Given the description of an element on the screen output the (x, y) to click on. 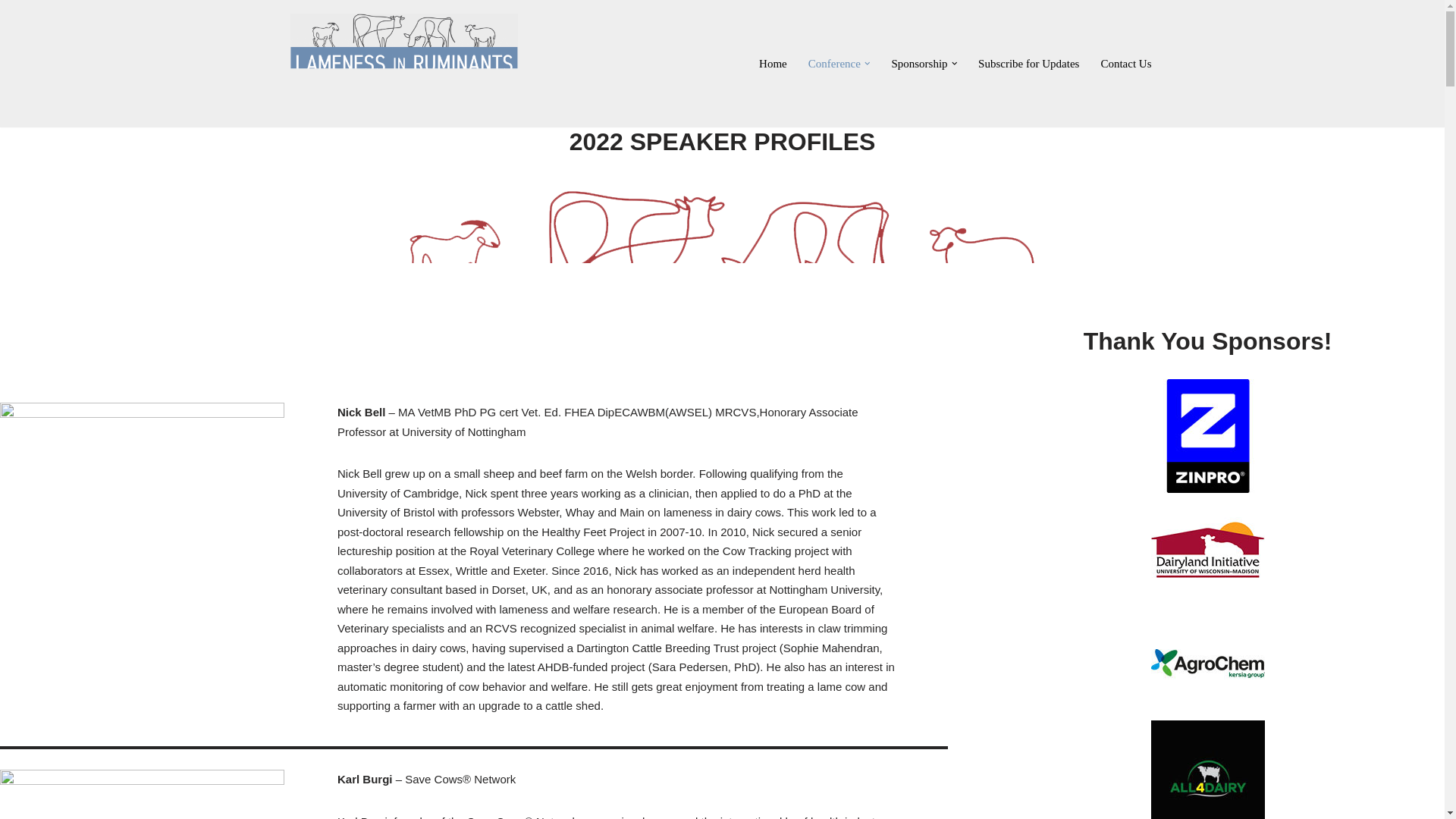
Home (772, 63)
Contact Us (1125, 63)
Sponsorship (919, 63)
Skip to content (11, 31)
Subscribe for Updates (1028, 63)
Conference (834, 63)
